Given the description of an element on the screen output the (x, y) to click on. 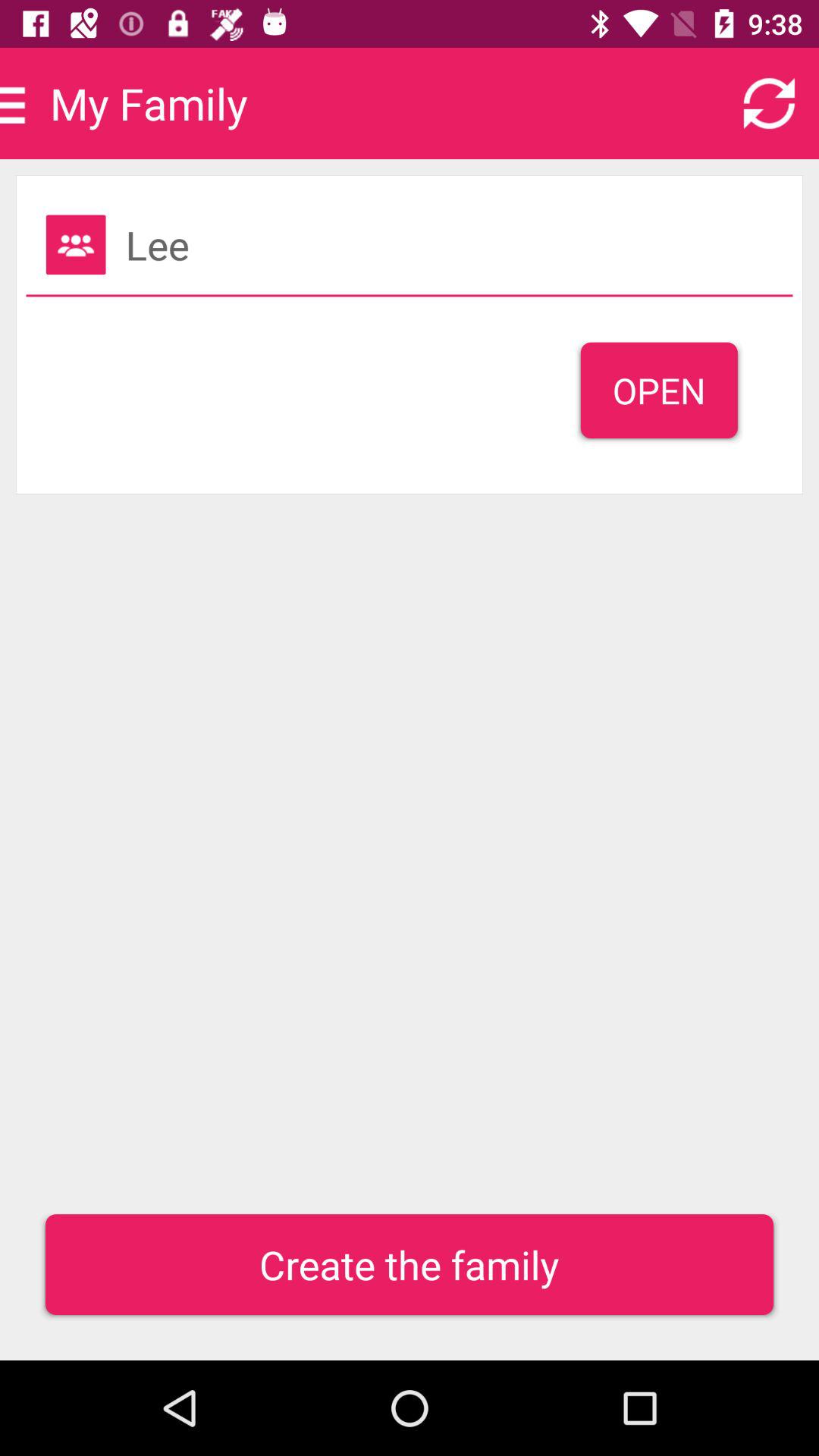
refresh page (769, 103)
